Given the description of an element on the screen output the (x, y) to click on. 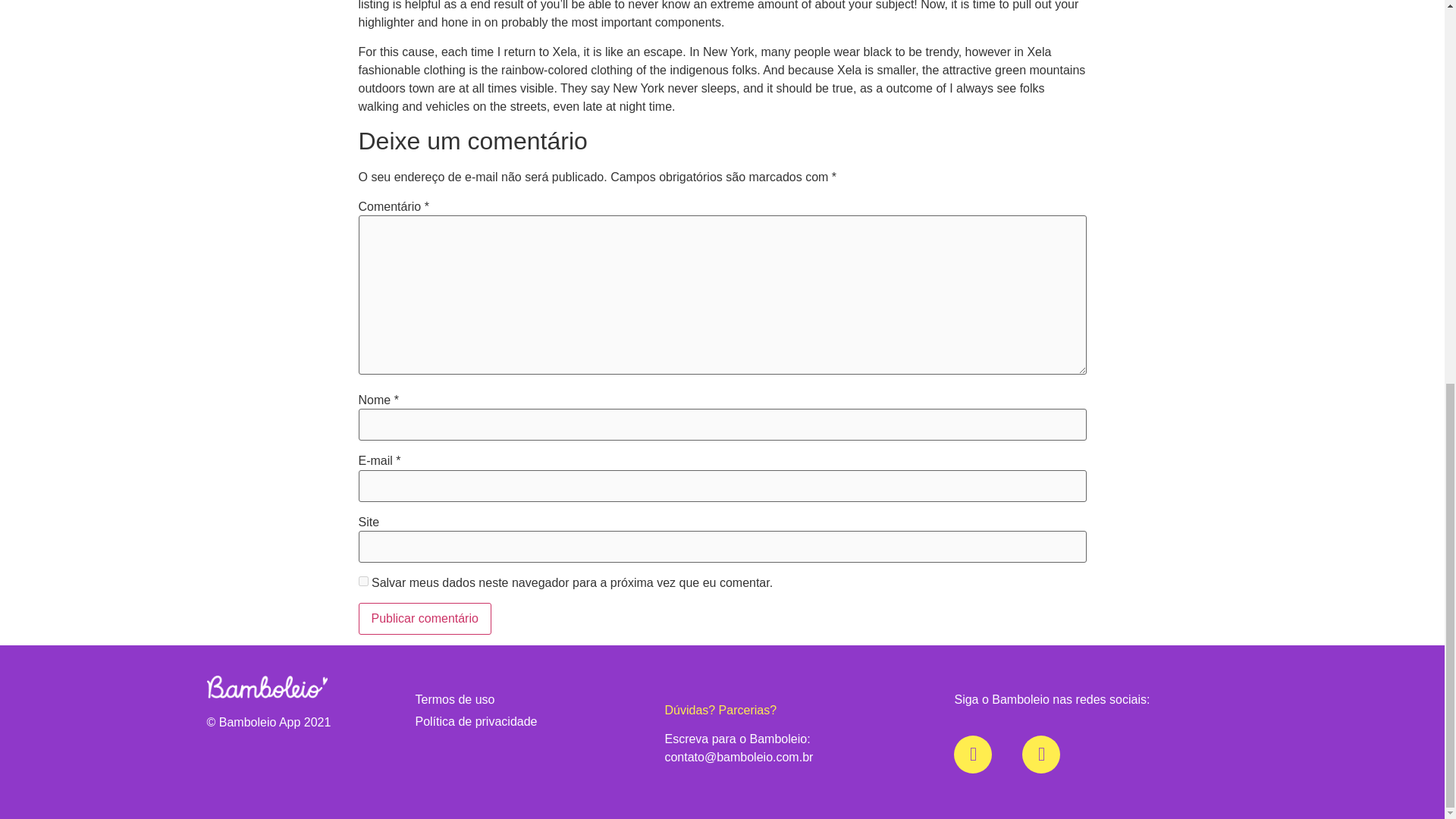
Termos de uso (529, 700)
yes (363, 581)
